Given the description of an element on the screen output the (x, y) to click on. 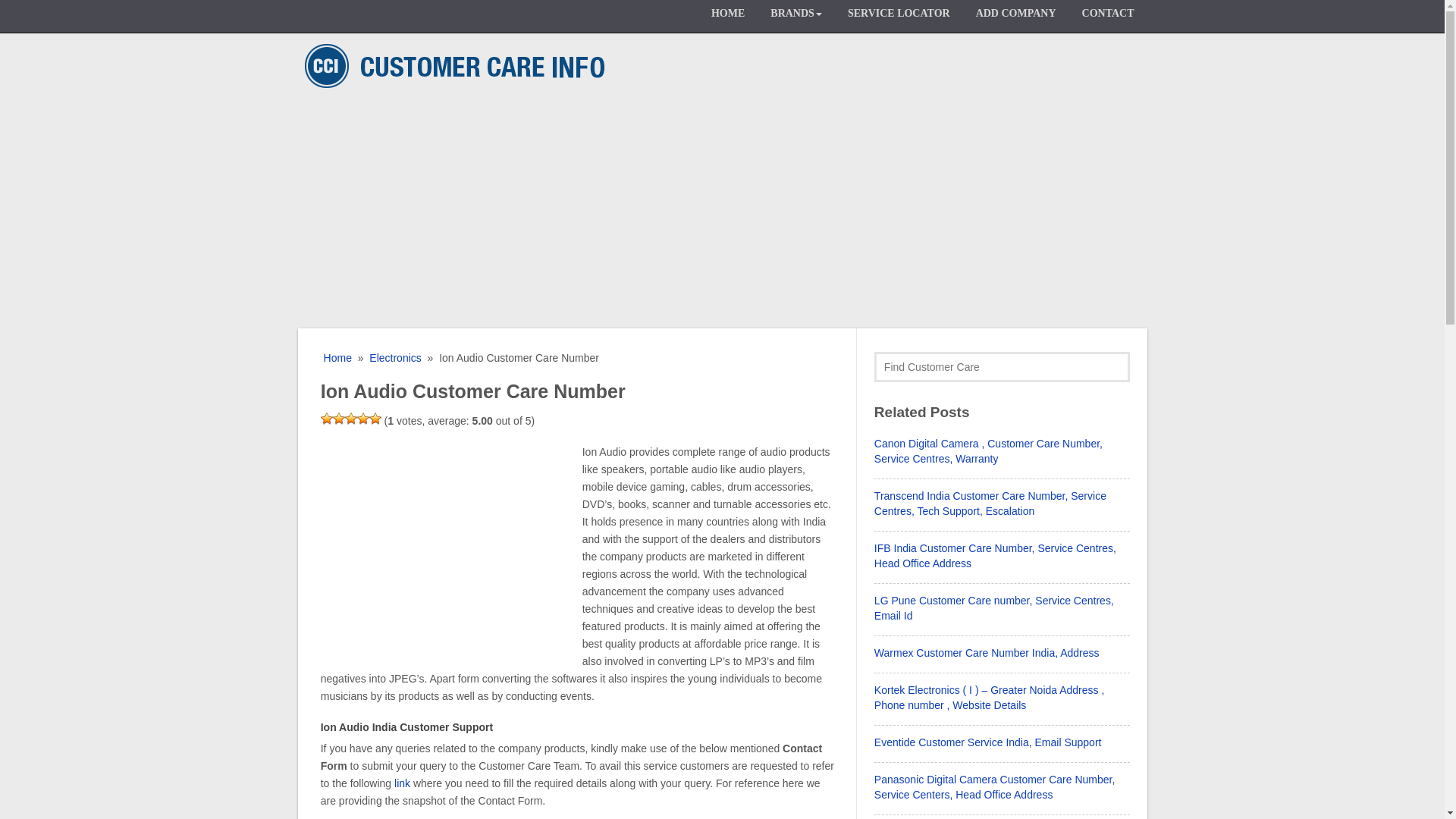
Advertisement (447, 549)
Electronics (394, 357)
link (402, 783)
BRANDS (795, 16)
4 Stars (362, 418)
SERVICE LOCATOR (898, 16)
HOME (727, 16)
CONTACT (1107, 16)
3 Stars (350, 418)
5 Stars (375, 418)
 Home (336, 357)
